Given the description of an element on the screen output the (x, y) to click on. 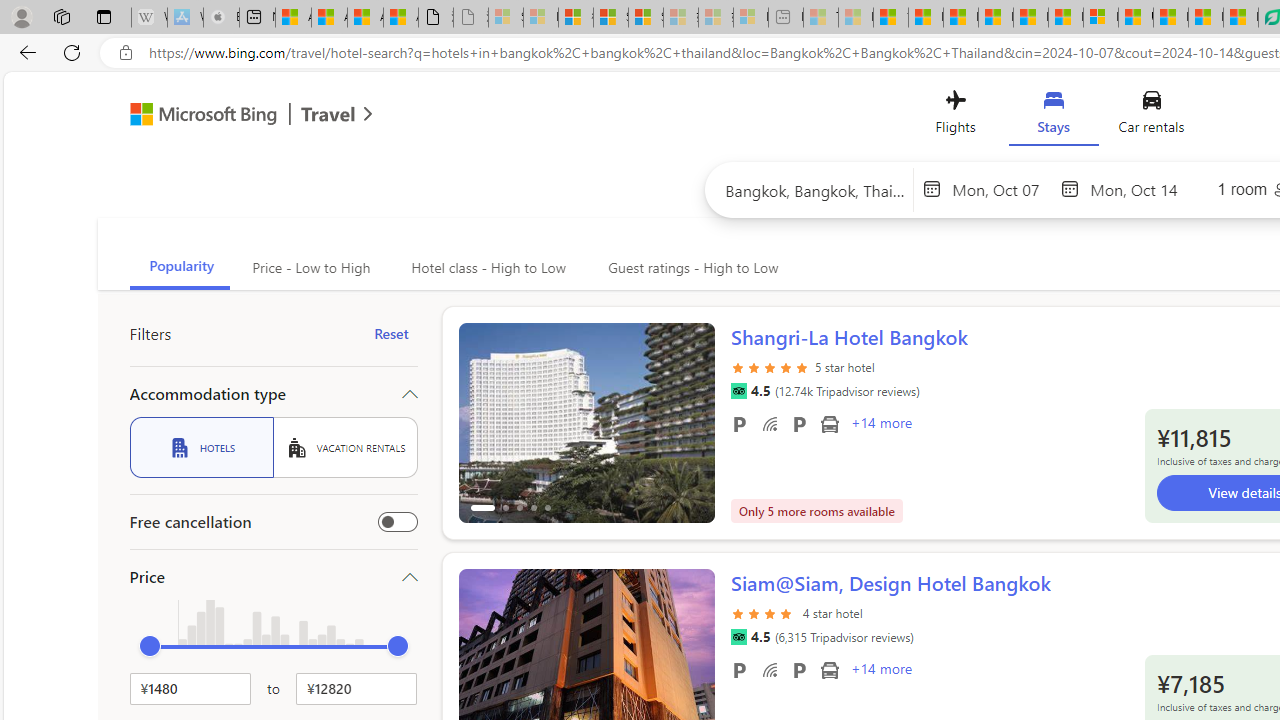
ScrollLeft (482, 660)
Buy iPad - Apple - Sleeping (221, 17)
Reset (391, 333)
Popularity (179, 268)
Flights (955, 116)
Hotel class - High to Low (485, 268)
Microsoft account | Account Checkup - Sleeping (750, 17)
Top Stories - MSN - Sleeping (820, 17)
Valet parking (798, 669)
+14 More Amenities (880, 671)
Price (273, 576)
